Given the description of an element on the screen output the (x, y) to click on. 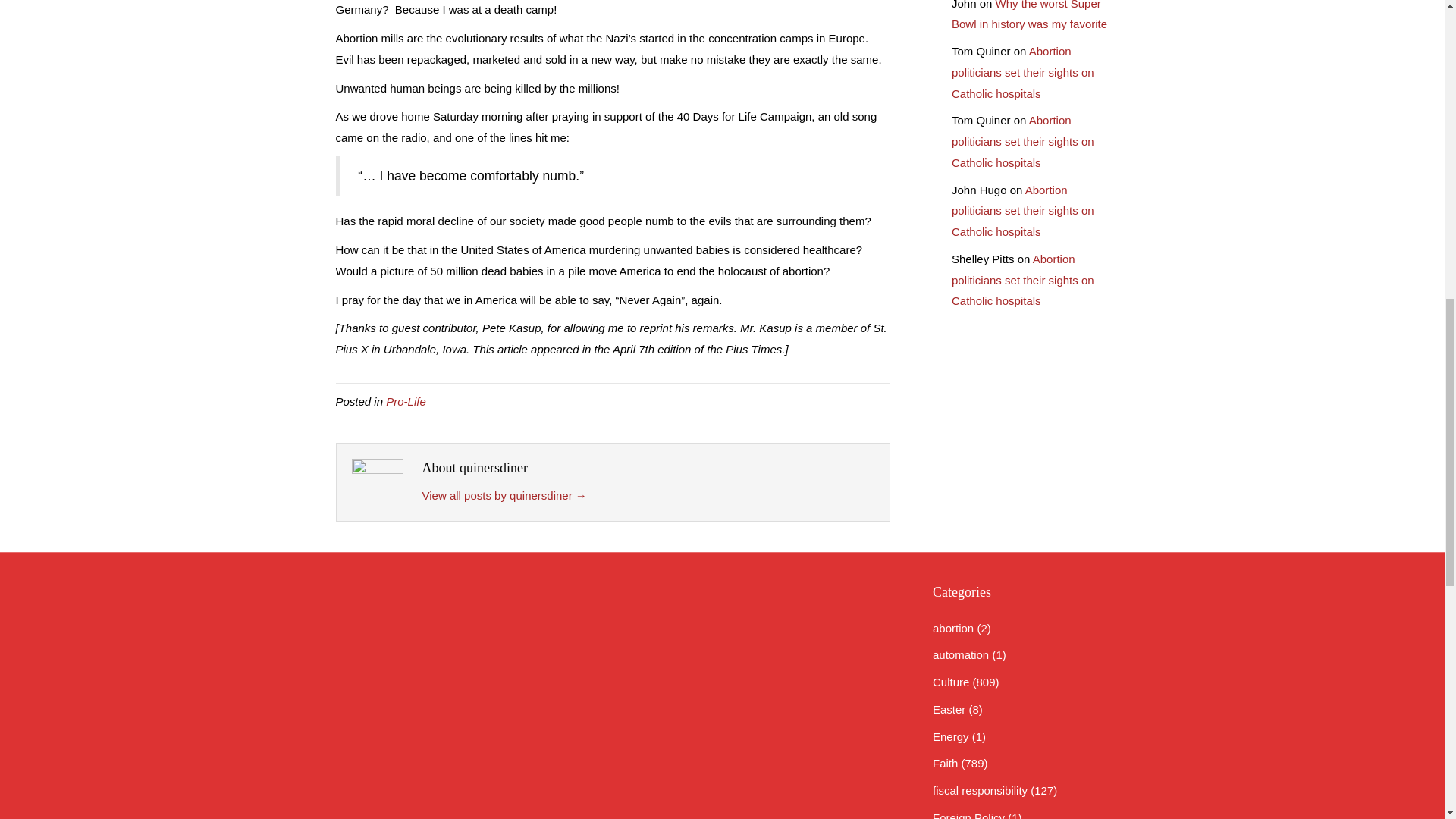
Abortion politicians set their sights on Catholic hospitals (1023, 140)
Why the worst Super Bowl in history was my favorite (1029, 15)
automation (960, 654)
abortion (953, 627)
Faith (945, 762)
Easter (949, 708)
Energy (951, 736)
Foreign Policy (968, 815)
fiscal responsibility (980, 789)
Pro-Life (405, 400)
